Given the description of an element on the screen output the (x, y) to click on. 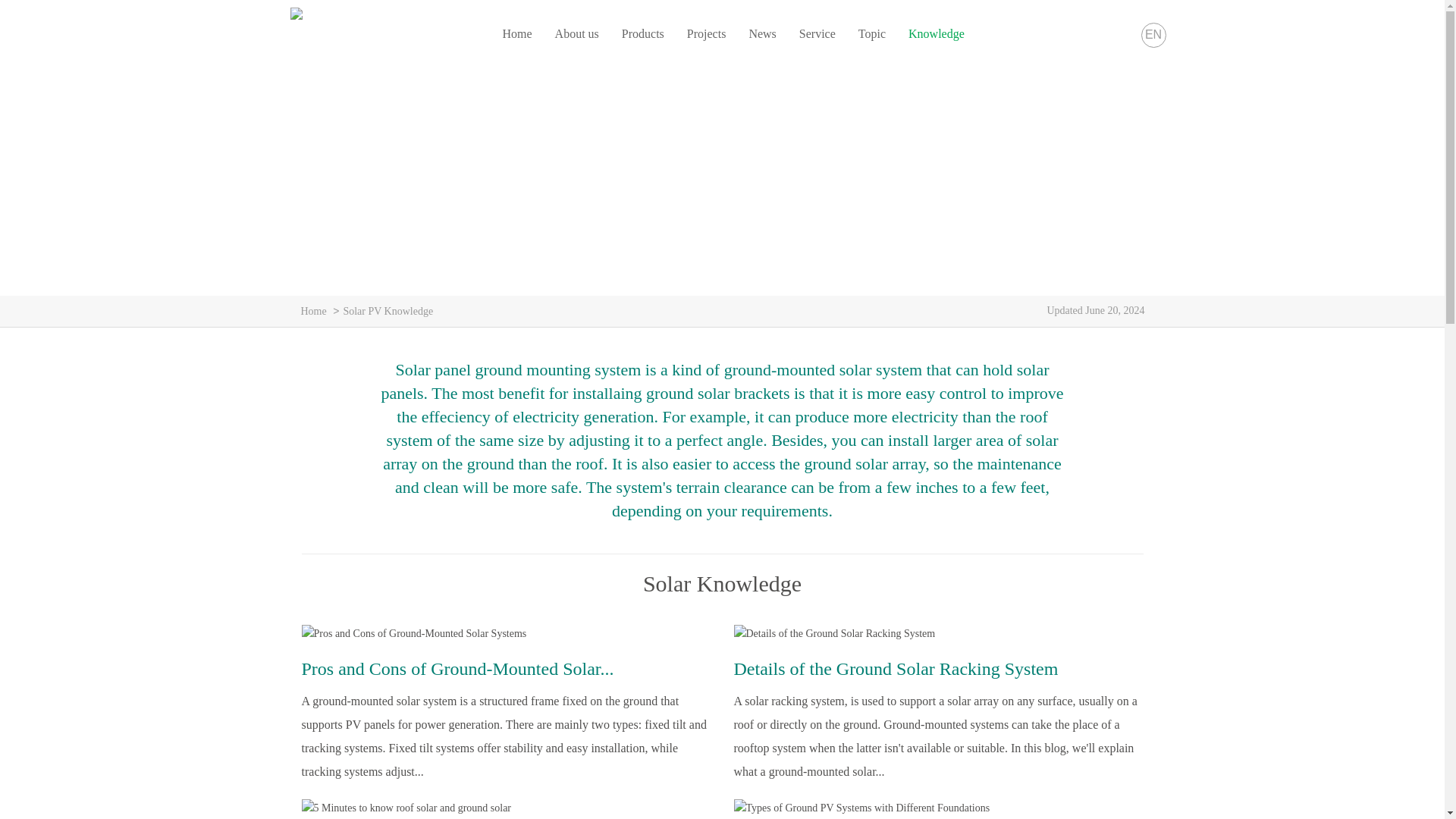
Products (642, 33)
Projects (706, 33)
News (762, 33)
Products (642, 33)
EN (1153, 34)
News (762, 33)
Topic (871, 33)
Service (817, 33)
Home (516, 33)
About us (577, 33)
About us (577, 33)
Projects (706, 33)
Knowledge (936, 33)
Home (312, 310)
solar mounting system (516, 33)
